Given the description of an element on the screen output the (x, y) to click on. 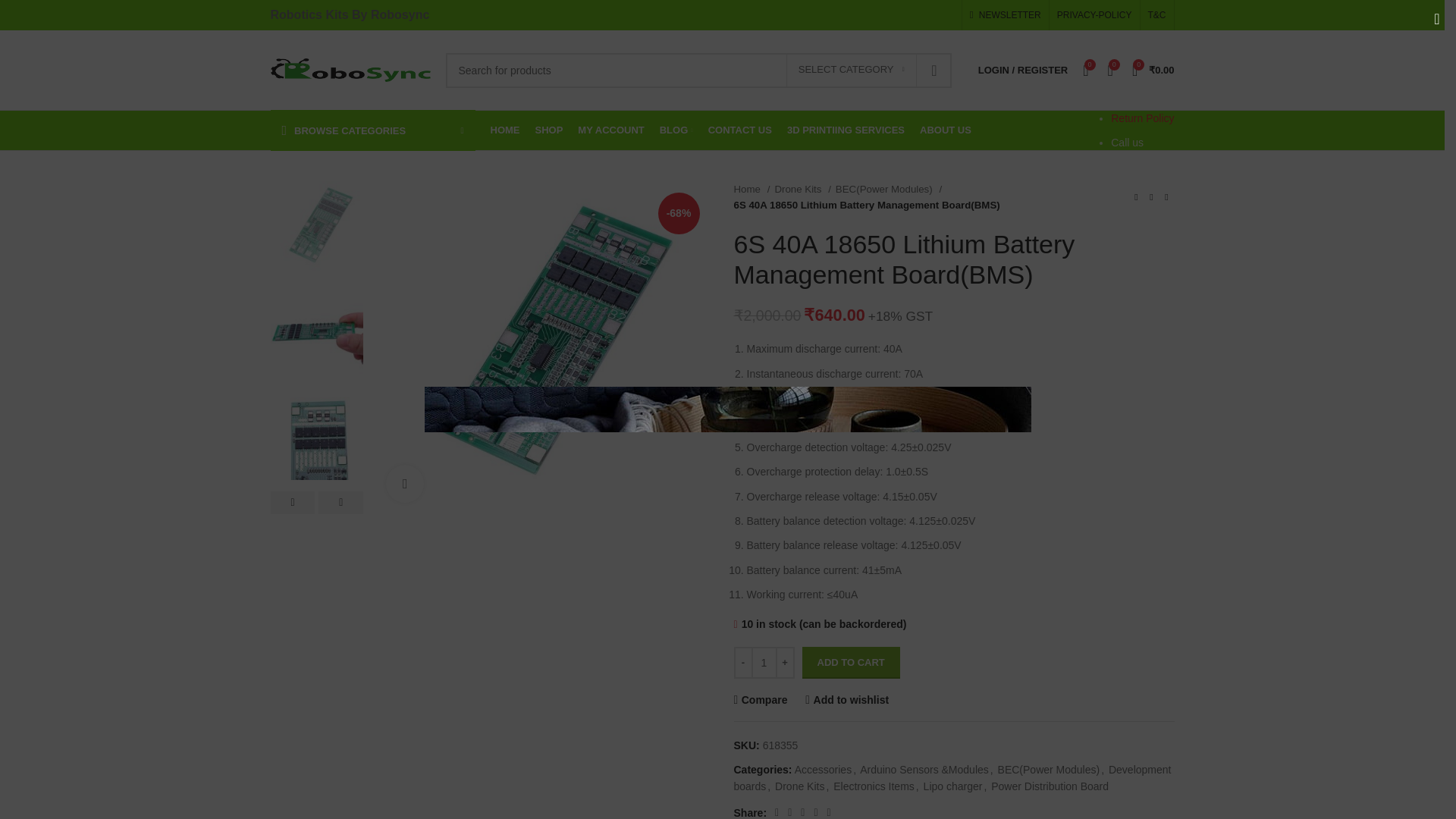
1 (763, 662)
- (742, 662)
SELECT CATEGORY (851, 70)
Search for products (698, 70)
PRIVACY-POLICY (1094, 15)
SELECT CATEGORY (851, 70)
Compare products (1085, 69)
My Wishlist (1110, 69)
Shopping cart (1153, 69)
My account (1023, 69)
NEWSLETTER (1005, 15)
